Given the description of an element on the screen output the (x, y) to click on. 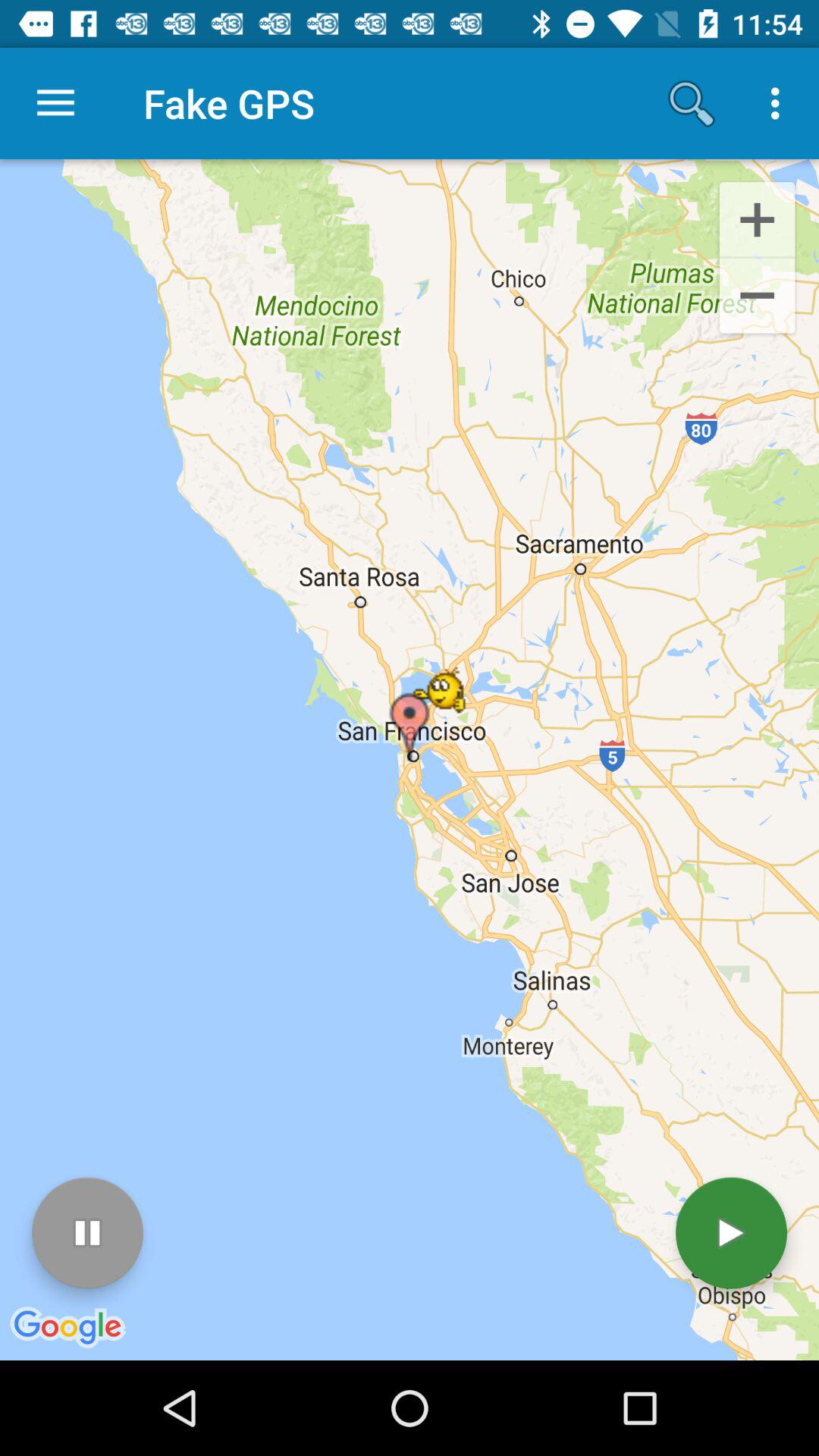
choose app next to fake gps (691, 103)
